Given the description of an element on the screen output the (x, y) to click on. 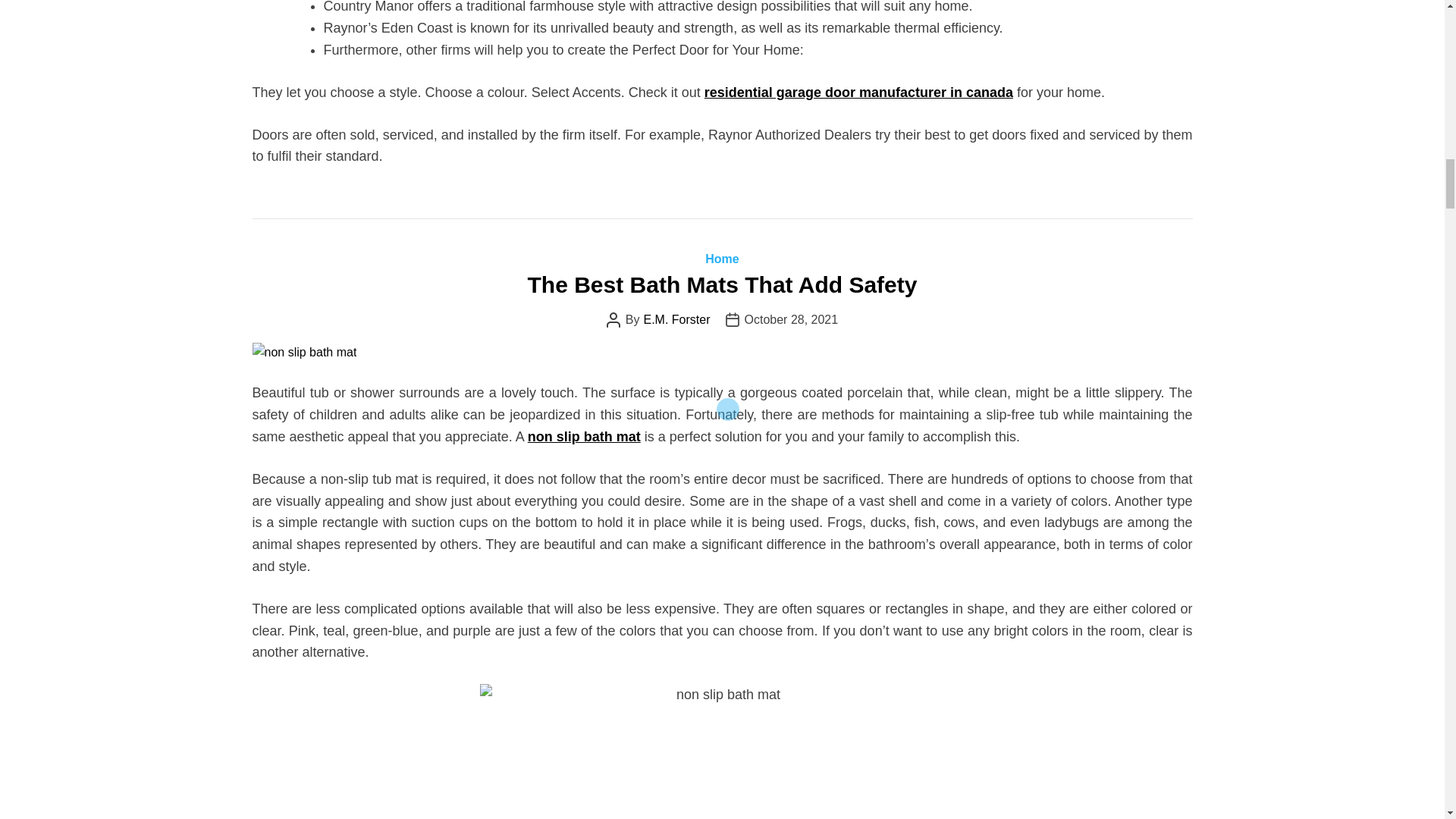
The Best Bath Mats That Add Safety (722, 284)
residential garage door manufacturer in canada (858, 92)
non slip bath mat (583, 436)
Home (721, 258)
E.M. Forster (676, 319)
